Given the description of an element on the screen output the (x, y) to click on. 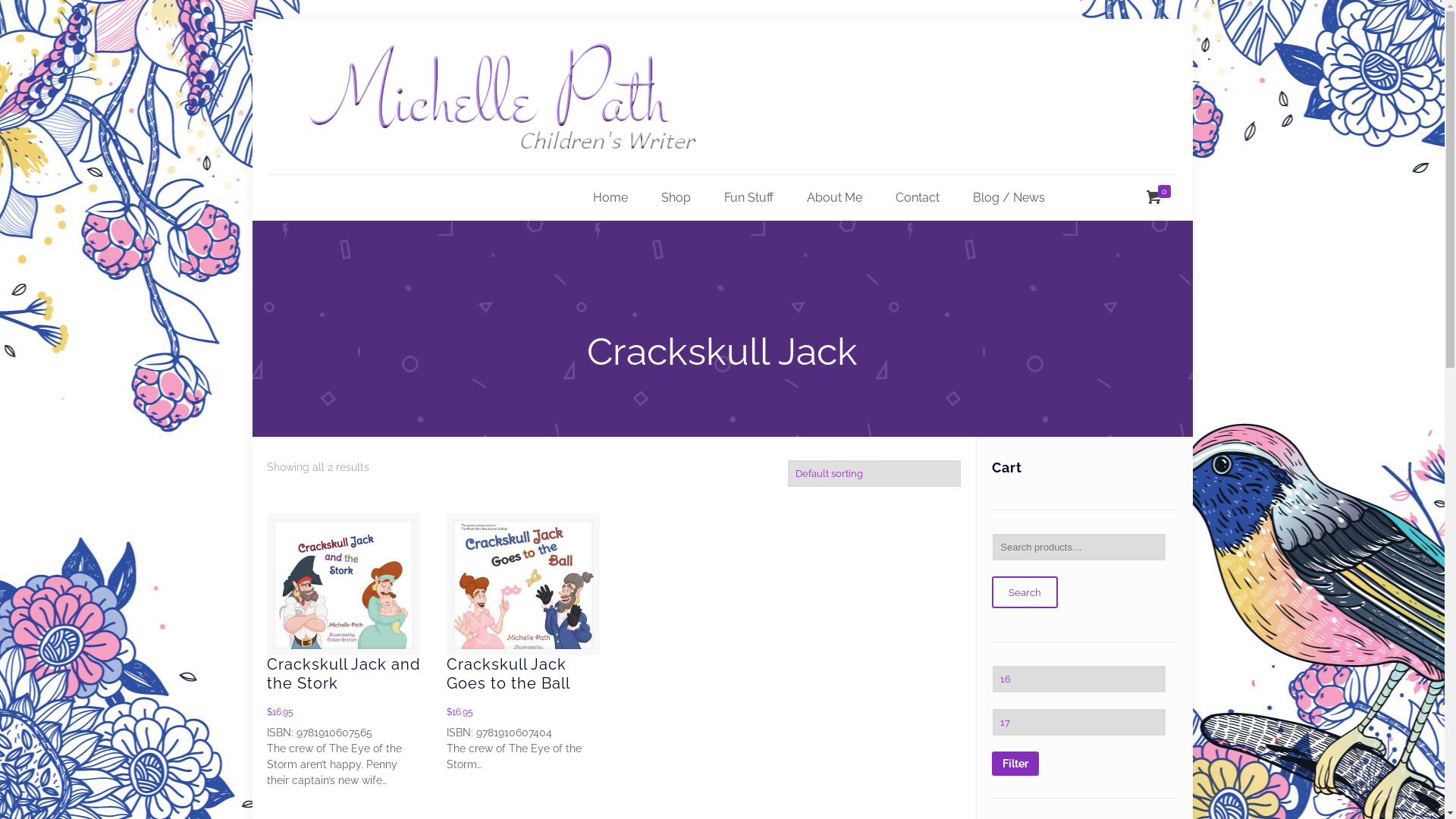
Michelle Path Element type: hover (501, 96)
Crackskull Jack Goes to the Ball Element type: text (508, 673)
0 Element type: text (1159, 197)
Search Element type: text (1024, 592)
Fun Stuff Element type: text (748, 197)
Filter Element type: text (1014, 763)
About Me Element type: text (834, 197)
Blog / News Element type: text (1008, 197)
Home Element type: text (610, 197)
Shop Element type: text (676, 197)
Crackskull Jack and the Stork Element type: text (343, 673)
Contact Element type: text (917, 197)
